Given the description of an element on the screen output the (x, y) to click on. 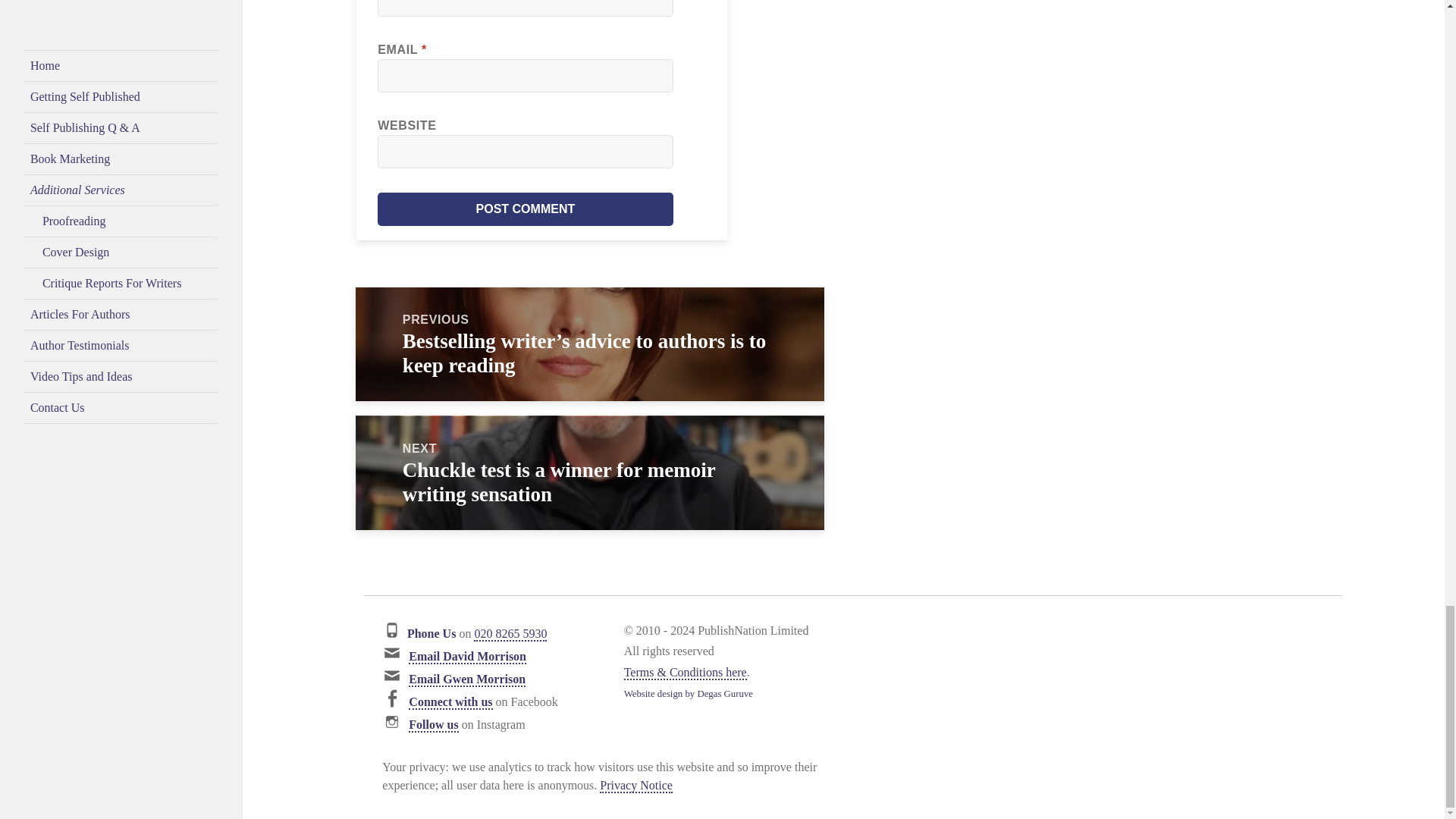
Connect with us (450, 702)
Post Comment (524, 209)
Email David Morrison at PublishNation (467, 657)
020 8265 5930 (510, 634)
See PublishNation on Facebook (450, 702)
See PublishNation on Instagram (433, 725)
Post Comment (524, 209)
Email Gwen Morrison (467, 679)
Email Gwen Morrison at PublishNation (467, 679)
Follow us (433, 725)
Email David Morrison (467, 657)
